Given the description of an element on the screen output the (x, y) to click on. 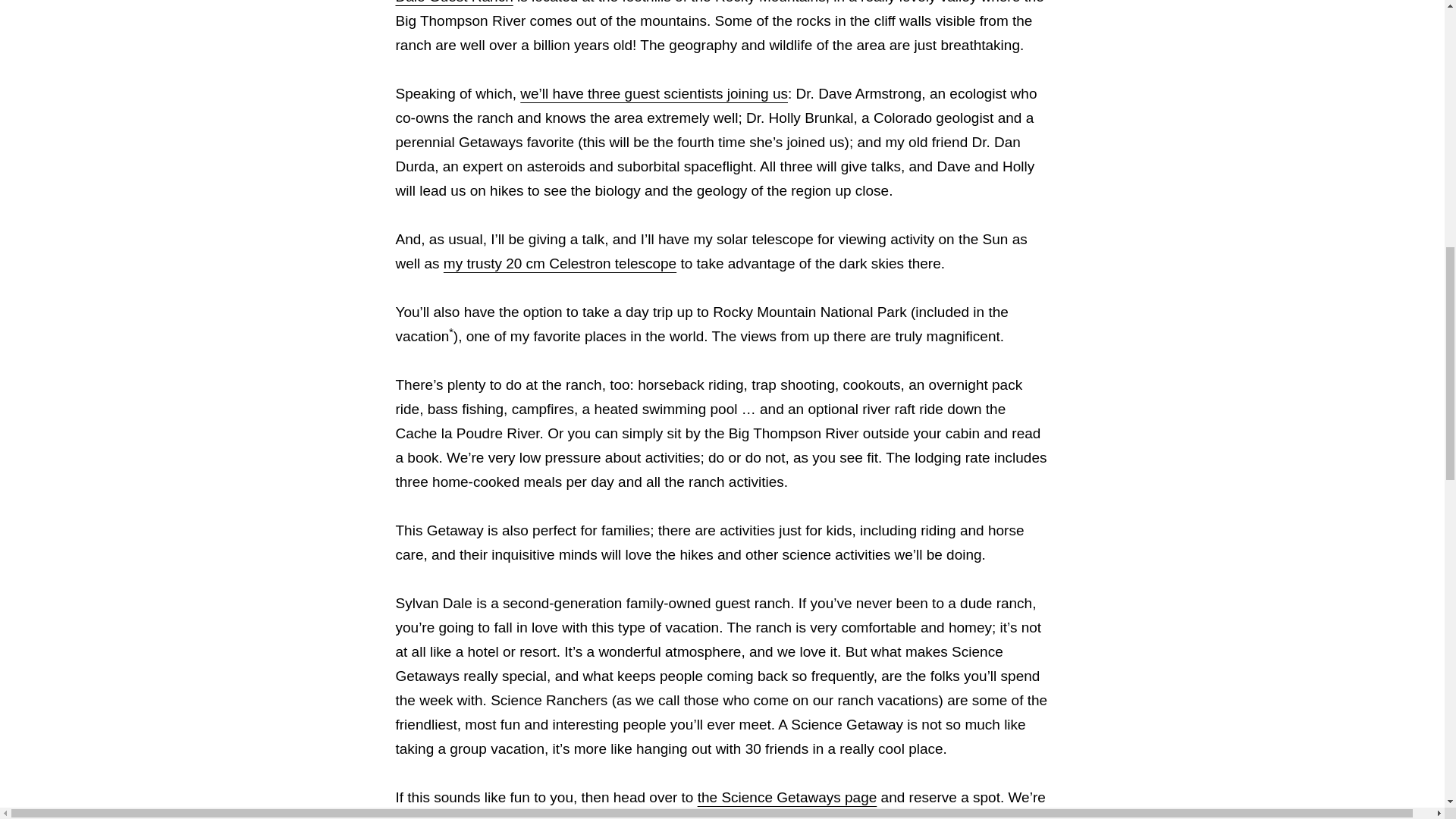
the Science Getaways page (787, 797)
my trusty 20 cm Celestron telescope (560, 263)
